Given the description of an element on the screen output the (x, y) to click on. 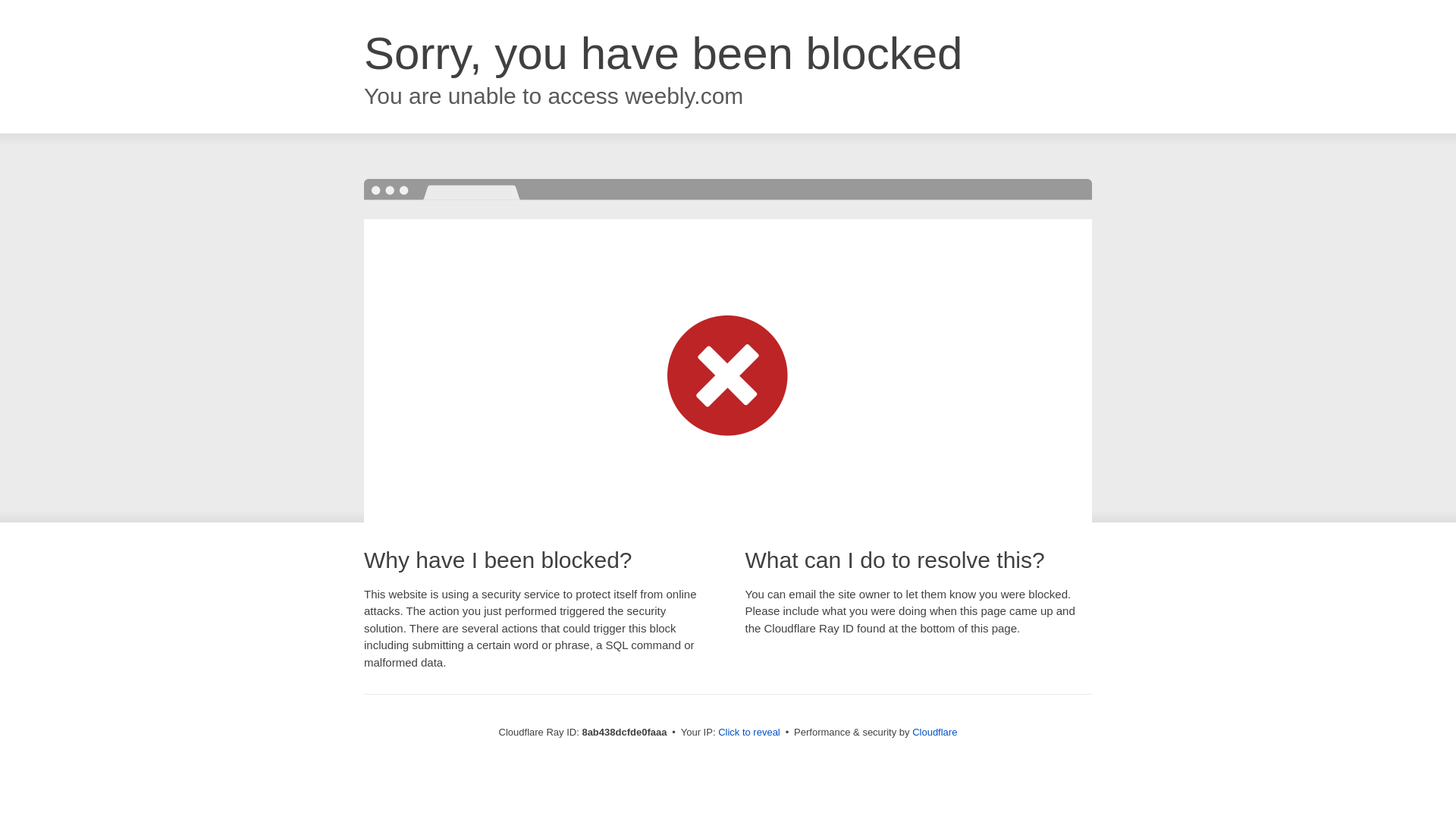
Click to reveal (748, 732)
Cloudflare (934, 731)
